Given the description of an element on the screen output the (x, y) to click on. 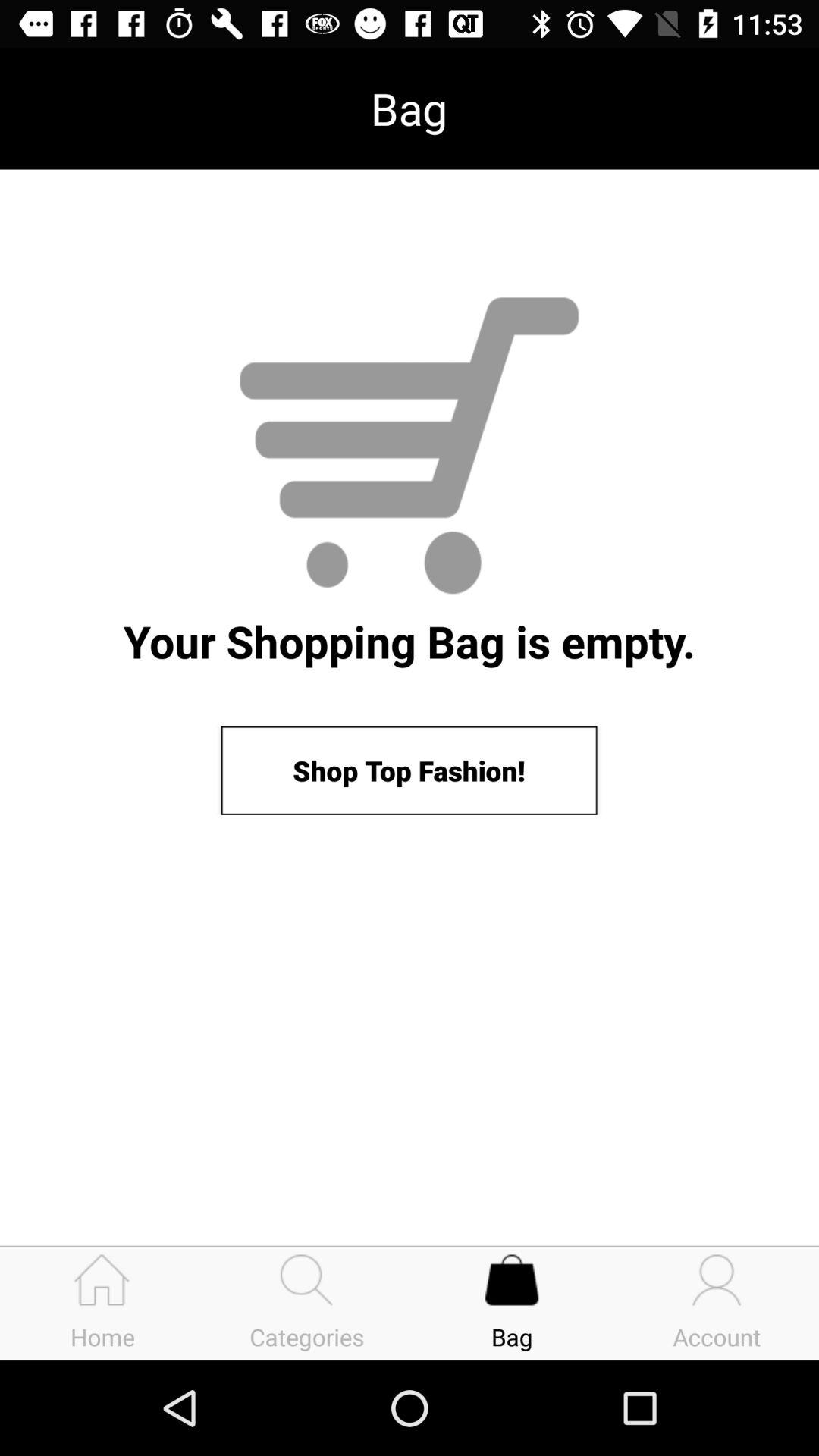
open the icon below your shopping bag (409, 770)
